Given the description of an element on the screen output the (x, y) to click on. 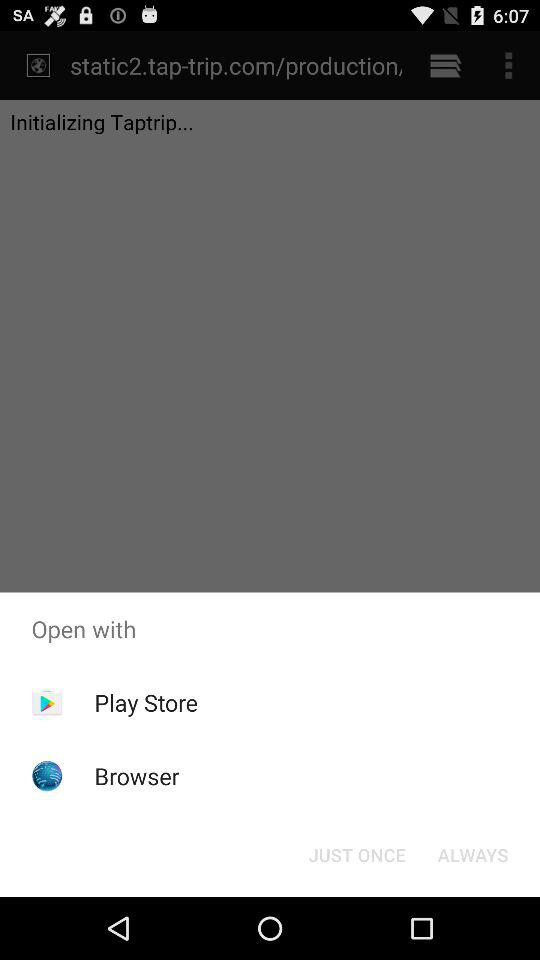
press the item next to the just once item (472, 854)
